Given the description of an element on the screen output the (x, y) to click on. 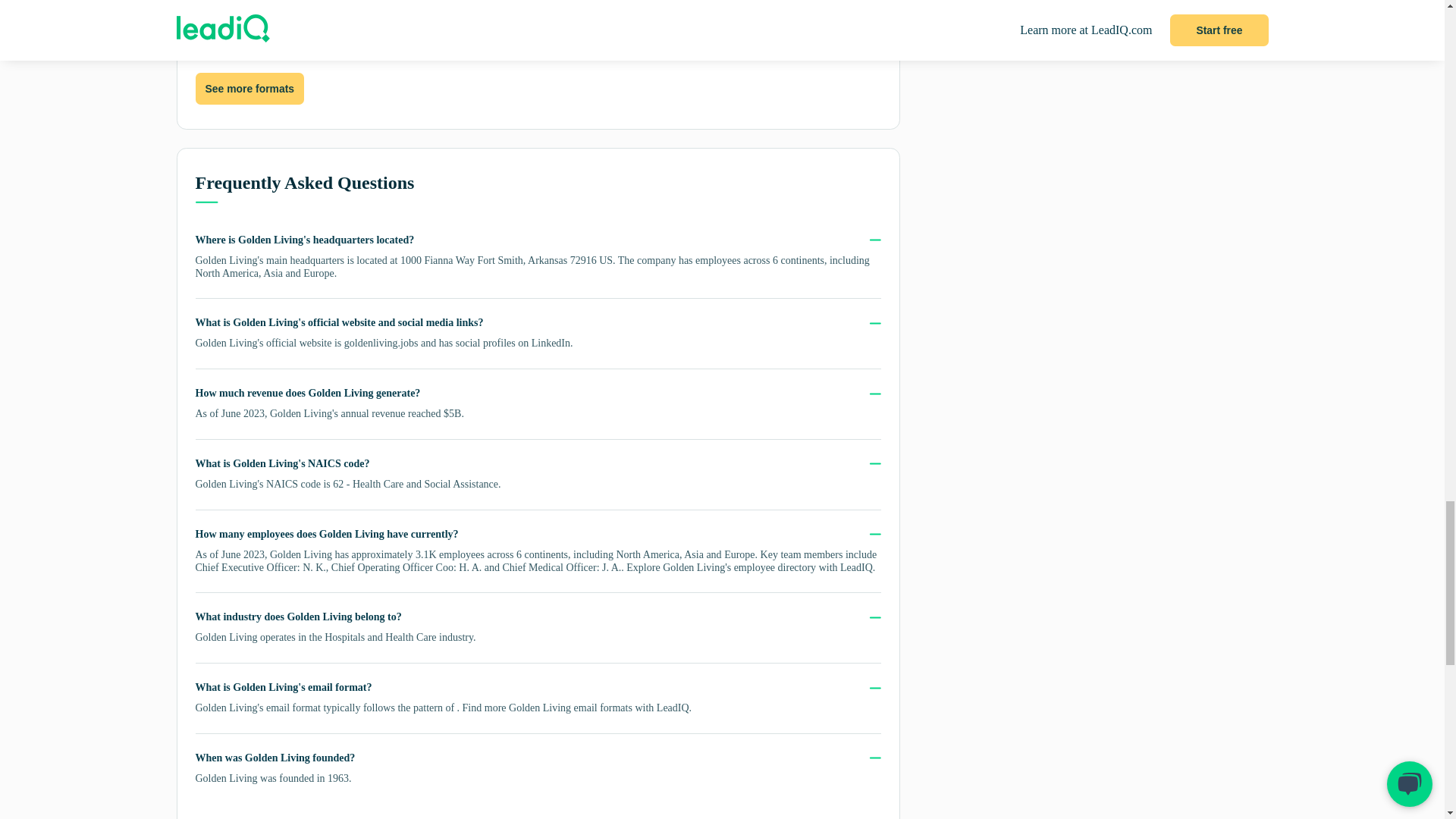
Golden Living's employee directory (738, 567)
See more formats (249, 88)
See more formats (249, 89)
Find more Golden Living email formats (547, 707)
goldenliving.jobs (381, 342)
LinkedIn (550, 342)
